Given the description of an element on the screen output the (x, y) to click on. 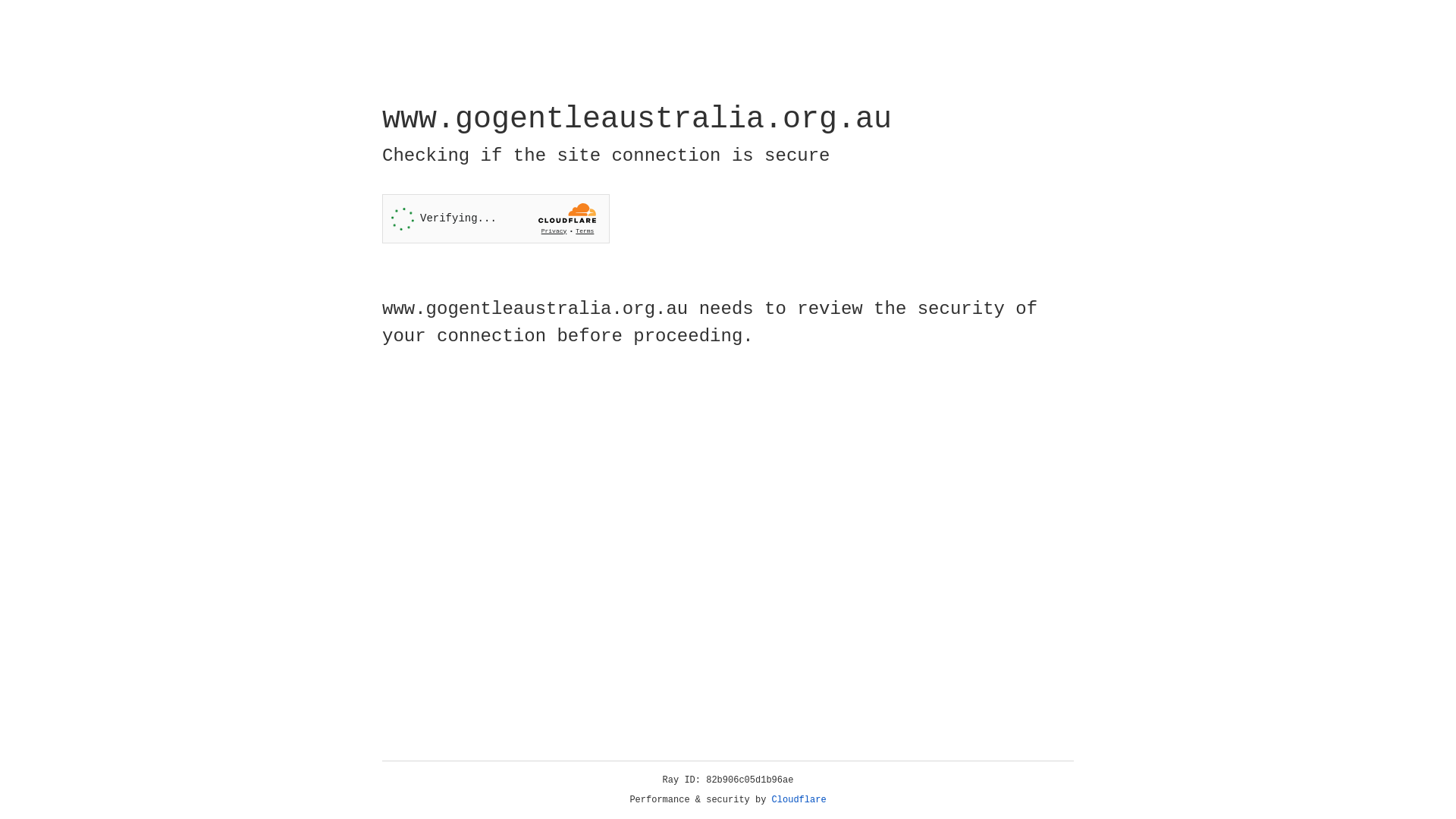
Widget containing a Cloudflare security challenge Element type: hover (495, 218)
Cloudflare Element type: text (798, 799)
